Given the description of an element on the screen output the (x, y) to click on. 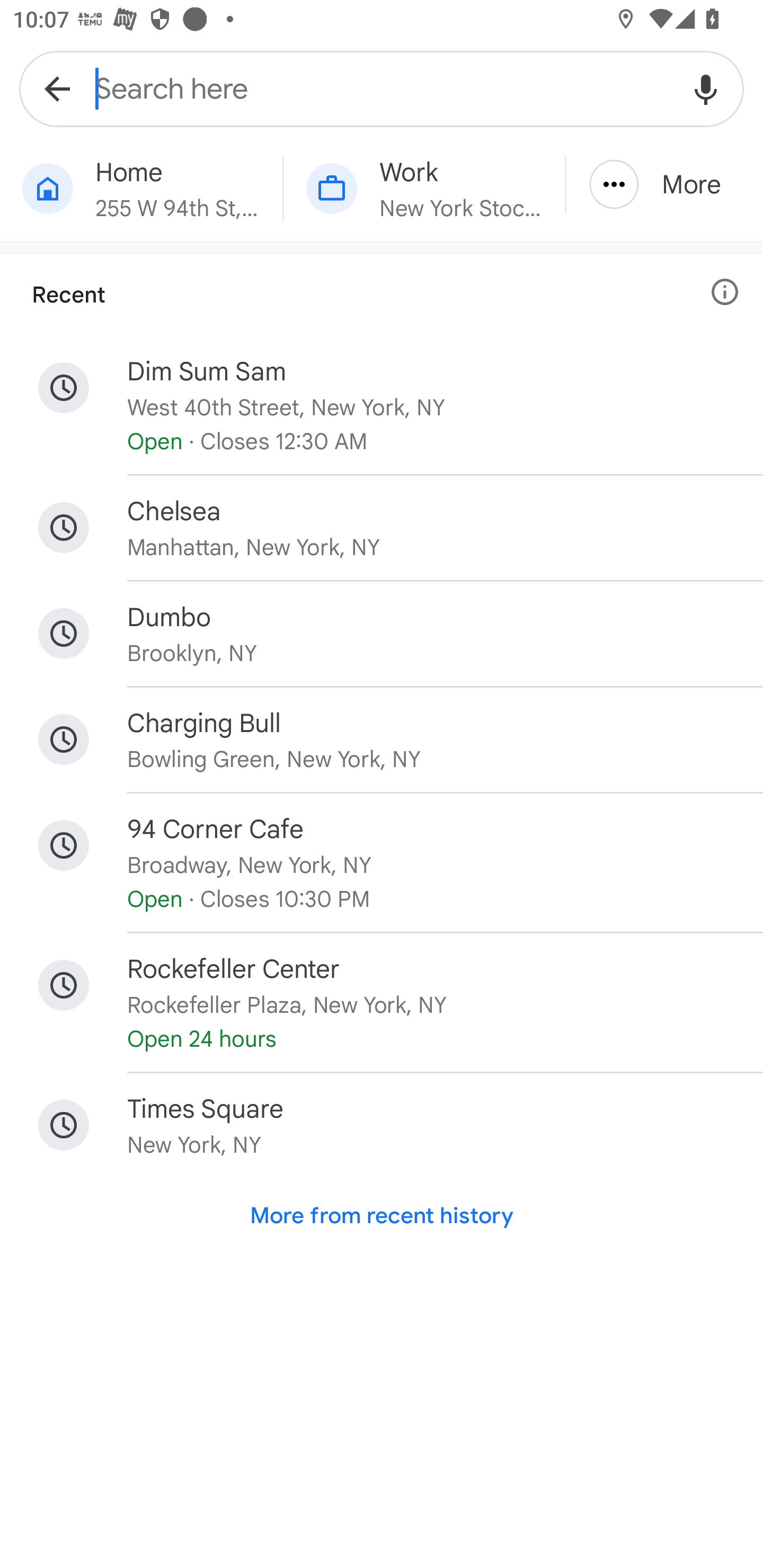
Navigate up (57, 88)
Search here (381, 88)
Voice search (705, 88)
More (664, 184)
Chelsea Manhattan, New York, NY (381, 527)
Dumbo Brooklyn, NY (381, 633)
Charging Bull Bowling Green, New York, NY (381, 739)
Times Square New York, NY (381, 1124)
More from recent history (381, 1215)
